Given the description of an element on the screen output the (x, y) to click on. 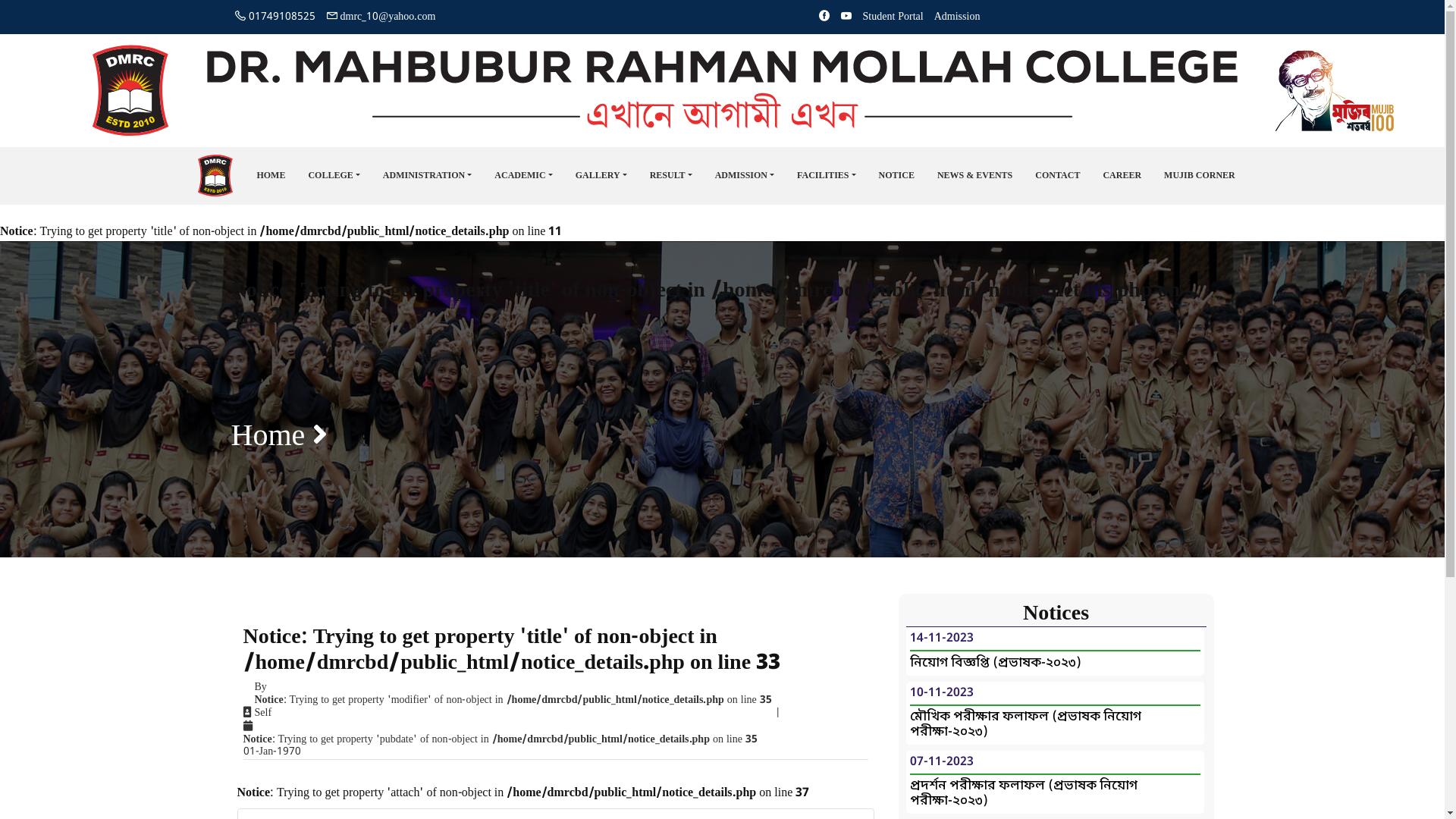
01749108525 Element type: text (274, 16)
Student Portal Element type: text (892, 16)
GALLERY Element type: text (601, 175)
Home Element type: text (267, 437)
CAREER Element type: text (1121, 175)
ADMISSION Element type: text (744, 175)
NEWS & EVENTS Element type: text (974, 175)
NOTICE Element type: text (896, 175)
Admission Element type: text (957, 16)
ACADEMIC Element type: text (523, 175)
RESULT Element type: text (670, 175)
dmrc_10@yahoo.com Element type: text (381, 16)
HOME Element type: text (270, 175)
CONTACT Element type: text (1057, 175)
FACILITIES Element type: text (826, 175)
MUJIB CORNER Element type: text (1199, 175)
ADMINISTRATION Element type: text (427, 175)
COLLEGE Element type: text (333, 175)
